Given the description of an element on the screen output the (x, y) to click on. 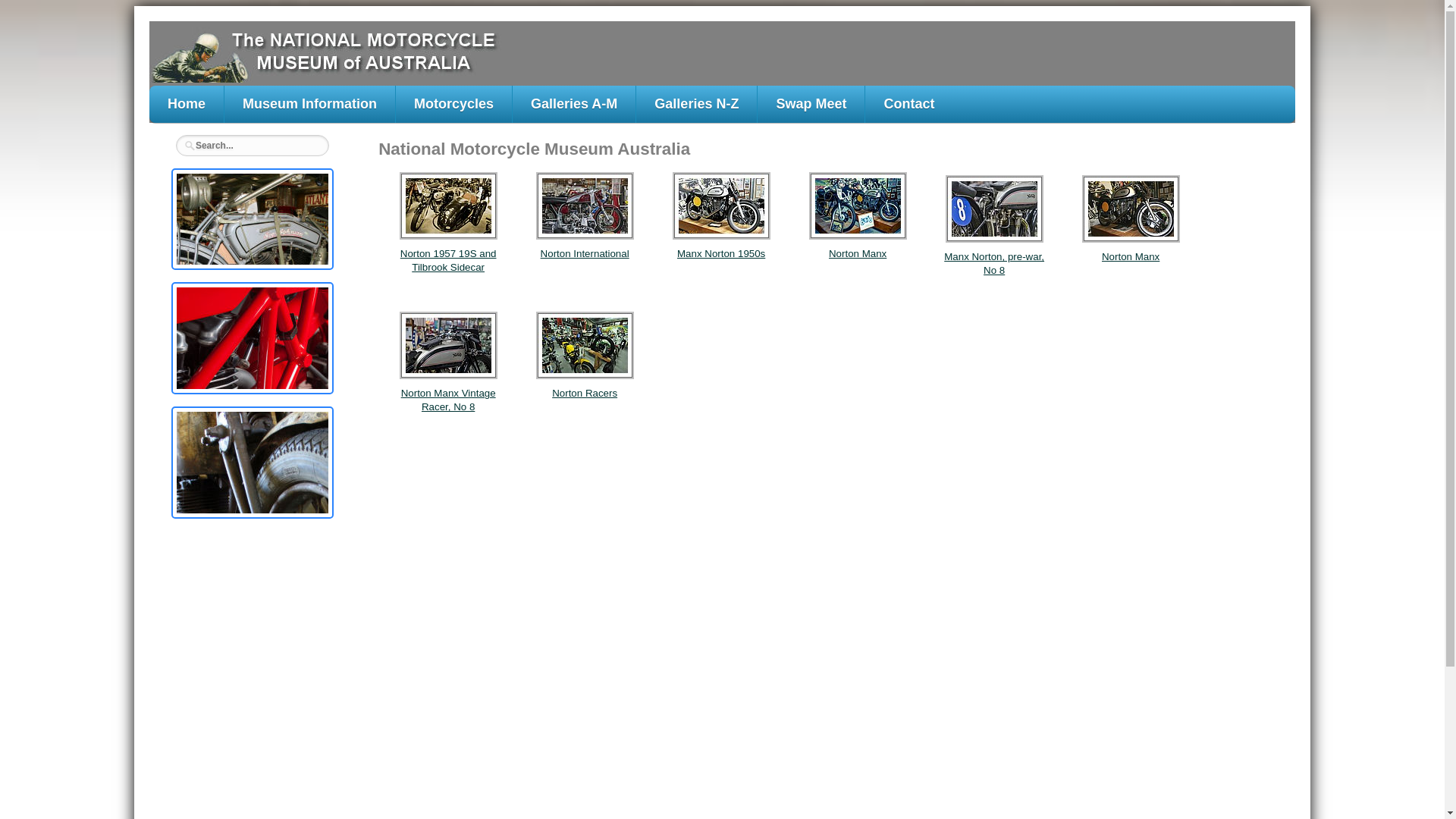
Norton Manx Element type: text (1130, 256)
Click to Enlarge Element type: hover (252, 462)
Norton-Manx-Ika-522.jpg Element type: hover (994, 208)
Click to Enlarge Element type: hover (252, 338)
Norton-Racer-Dai-Buckley.jpg Element type: hover (448, 345)
Galleries A-M Element type: text (573, 103)
Norton Manx Vintage Racer, No 8 Element type: text (448, 399)
Norton-1957-19S-Tilbrook-A-Durnford.jpg Element type: hover (448, 205)
Galleries N-Z Element type: text (696, 103)
Swap Meet Element type: text (810, 103)
Norton-Manx-1950s-Holtys.jpg Element type: hover (721, 205)
Norton 1957 19S and Tilbrook Sidecar Element type: text (448, 260)
Manx Norton, pre-war, No 8 Element type: text (994, 263)
Norton-Inter-Ika-534.jpg Element type: hover (584, 205)
Home Element type: text (186, 103)
Norton International Element type: text (584, 253)
Manx Norton 1950s Element type: text (721, 253)
Museum Information Element type: text (309, 103)
Norton-Manx-NMMC.jpg Element type: hover (1130, 208)
Norton Manx Element type: text (857, 253)
Norton-Racers-D7C-2580.jpg Element type: hover (584, 345)
Contact Element type: text (908, 103)
Norton-Manx-A-Durnford.jpg Element type: hover (857, 205)
Norton Racers Element type: text (584, 392)
Motorcycles Element type: text (453, 103)
Click to Enlarge Element type: hover (252, 218)
